Given the description of an element on the screen output the (x, y) to click on. 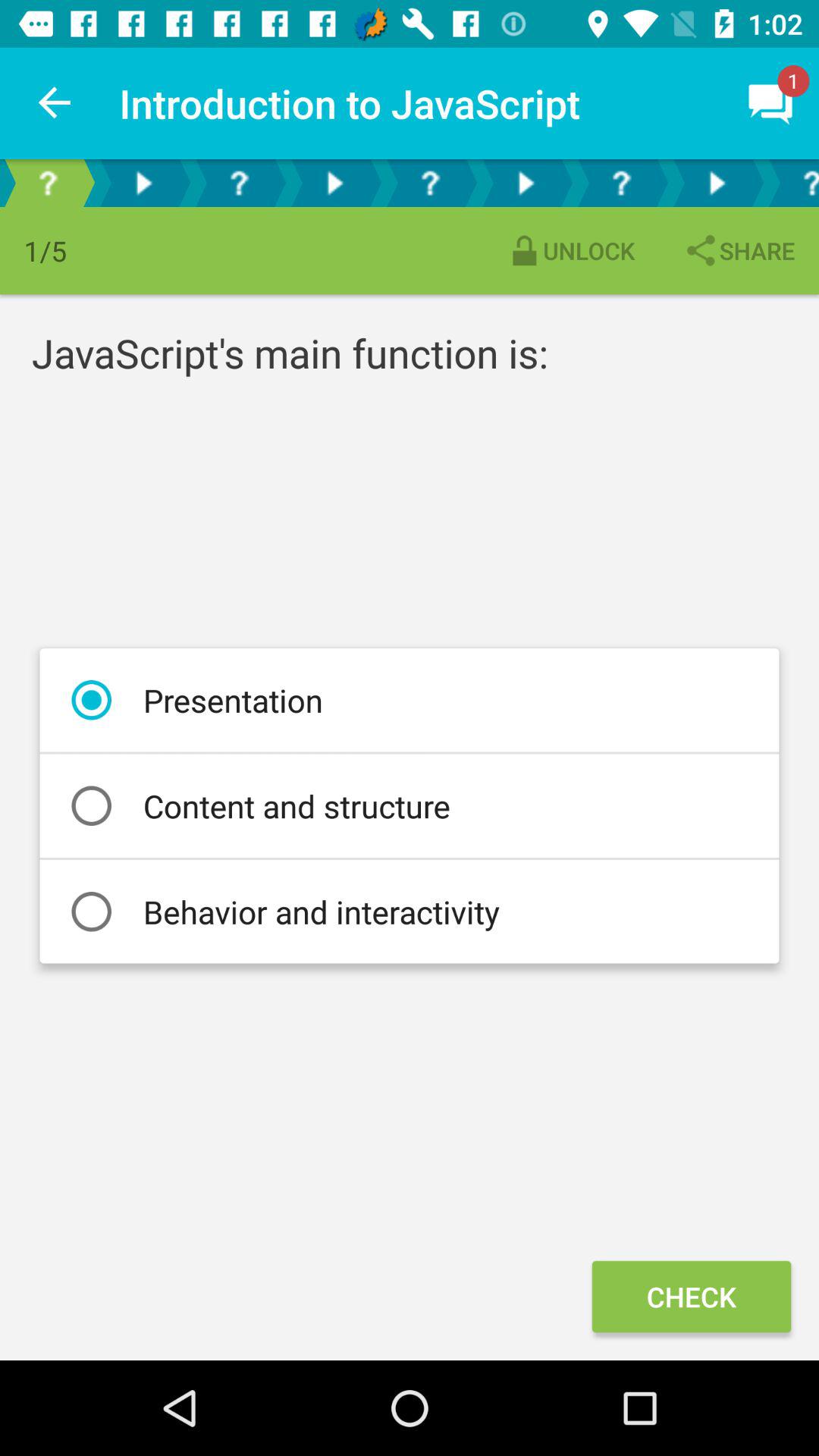
jump until the share icon (738, 250)
